Given the description of an element on the screen output the (x, y) to click on. 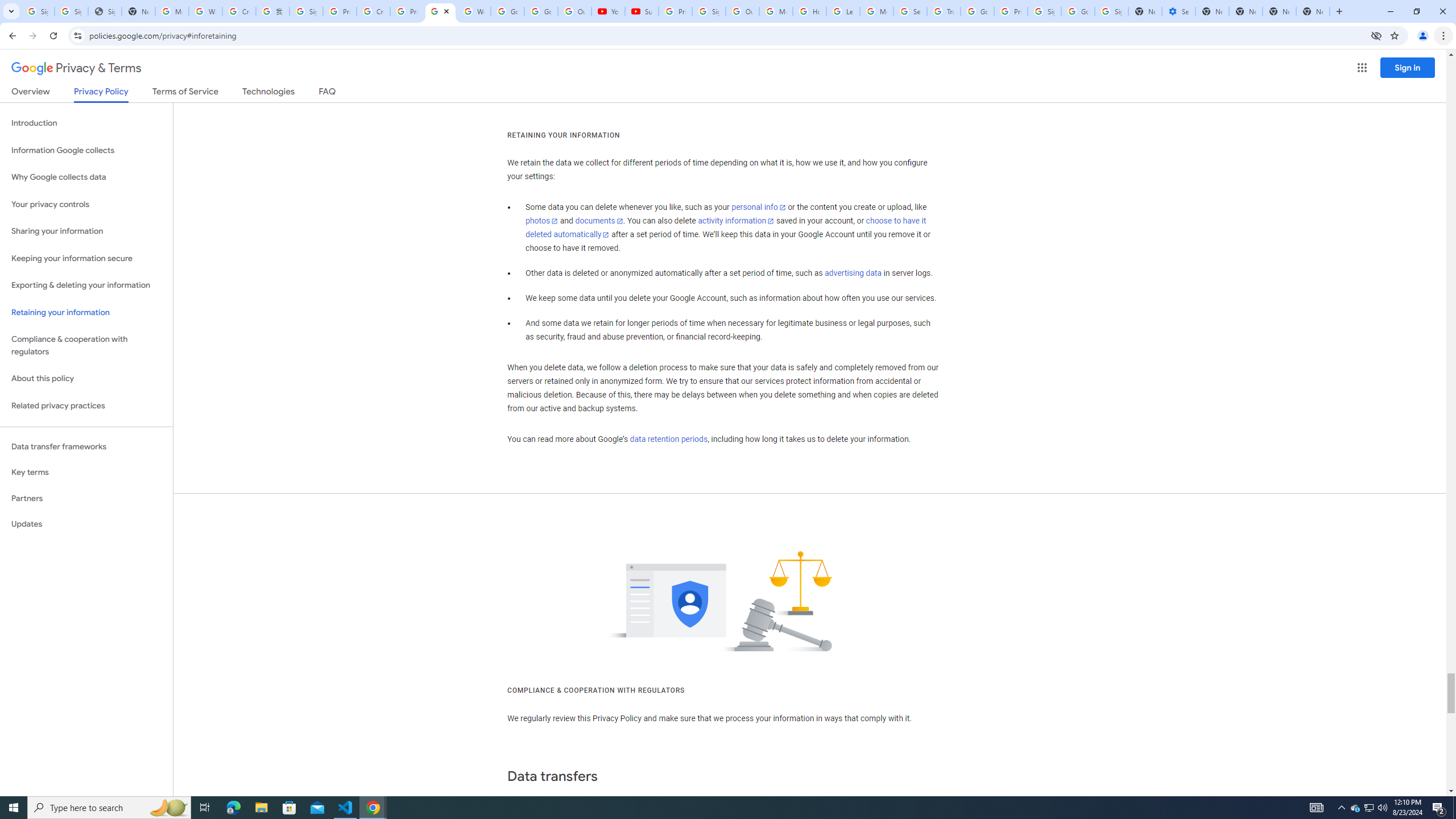
Search our Doodle Library Collection - Google Doodles (909, 11)
Sign in - Google Accounts (1111, 11)
Create your Google Account (372, 11)
Create your Google Account (238, 11)
Subscriptions - YouTube (641, 11)
Partners (86, 497)
